Given the description of an element on the screen output the (x, y) to click on. 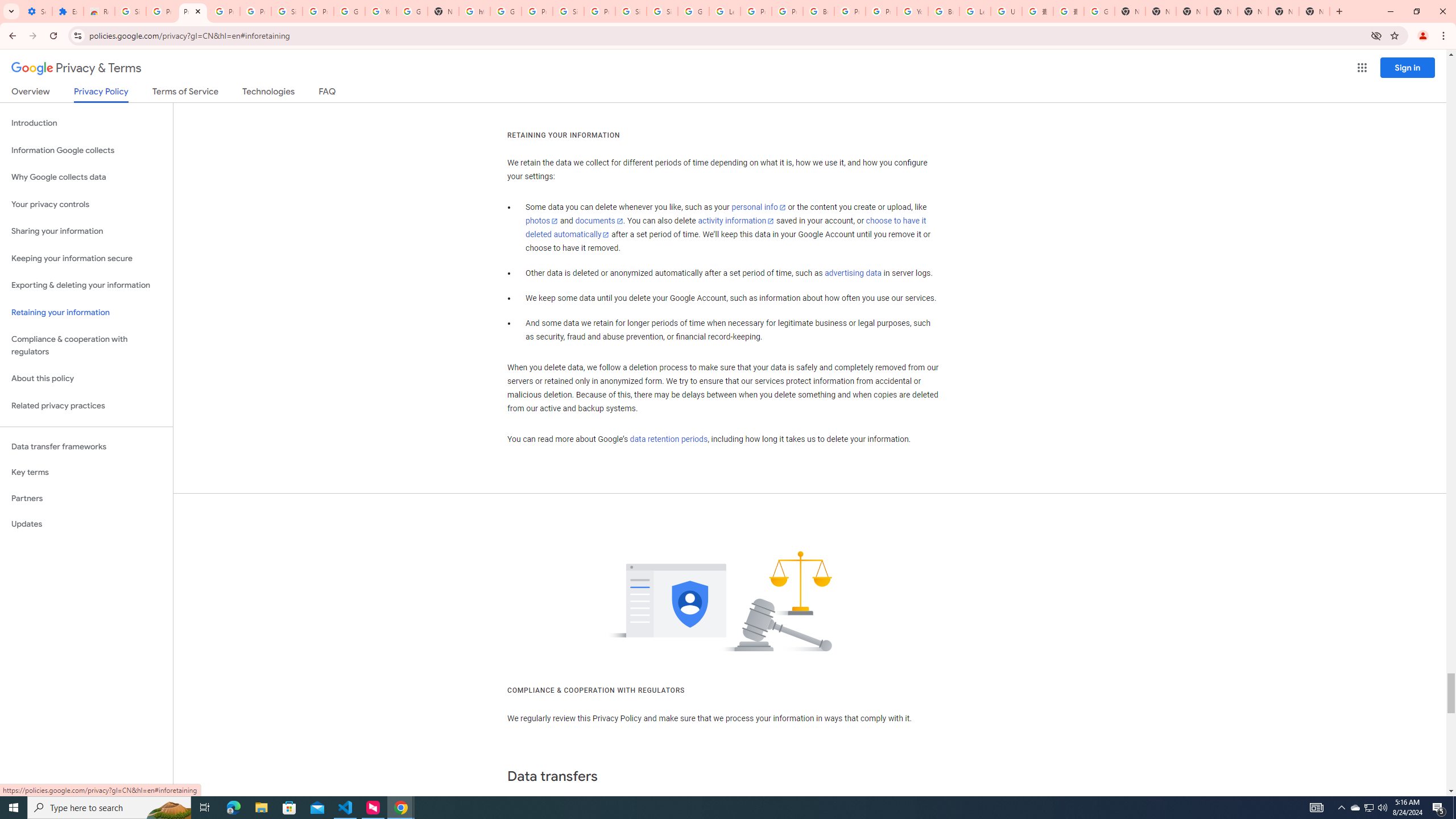
YouTube (380, 11)
Retaining your information (86, 312)
Sign in - Google Accounts (631, 11)
Google Images (1098, 11)
activity information (735, 221)
Compliance & cooperation with regulators (86, 345)
Key terms (86, 472)
